Given the description of an element on the screen output the (x, y) to click on. 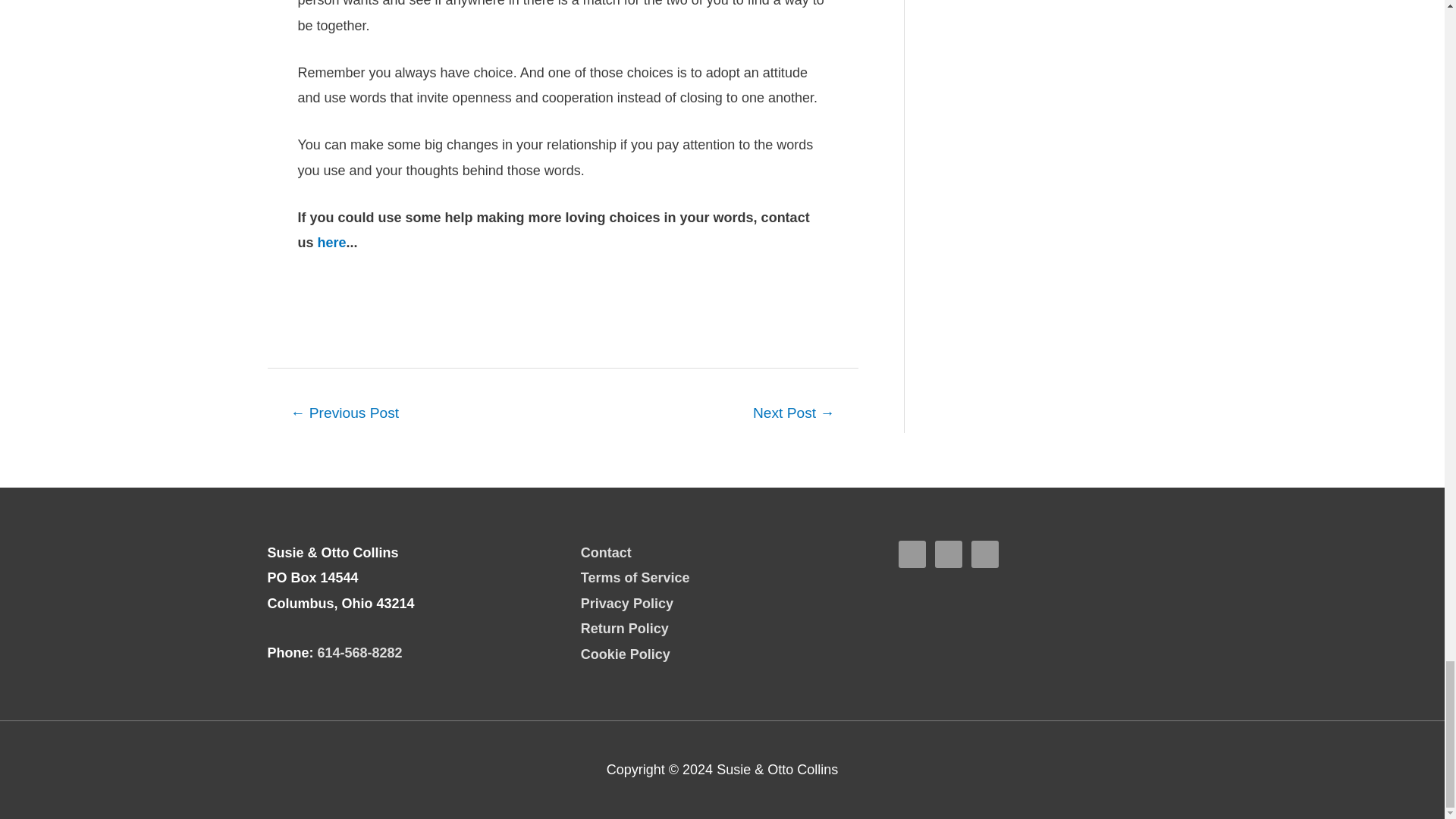
Return Policy (624, 628)
Contact (605, 552)
Terms of Service (635, 577)
614-568-8282 (359, 652)
When you're uncomfortable opening up about your feelings... (343, 414)
Privacy Policy (626, 603)
The Hidden Fear of Confrontation (793, 414)
here (331, 242)
